Given the description of an element on the screen output the (x, y) to click on. 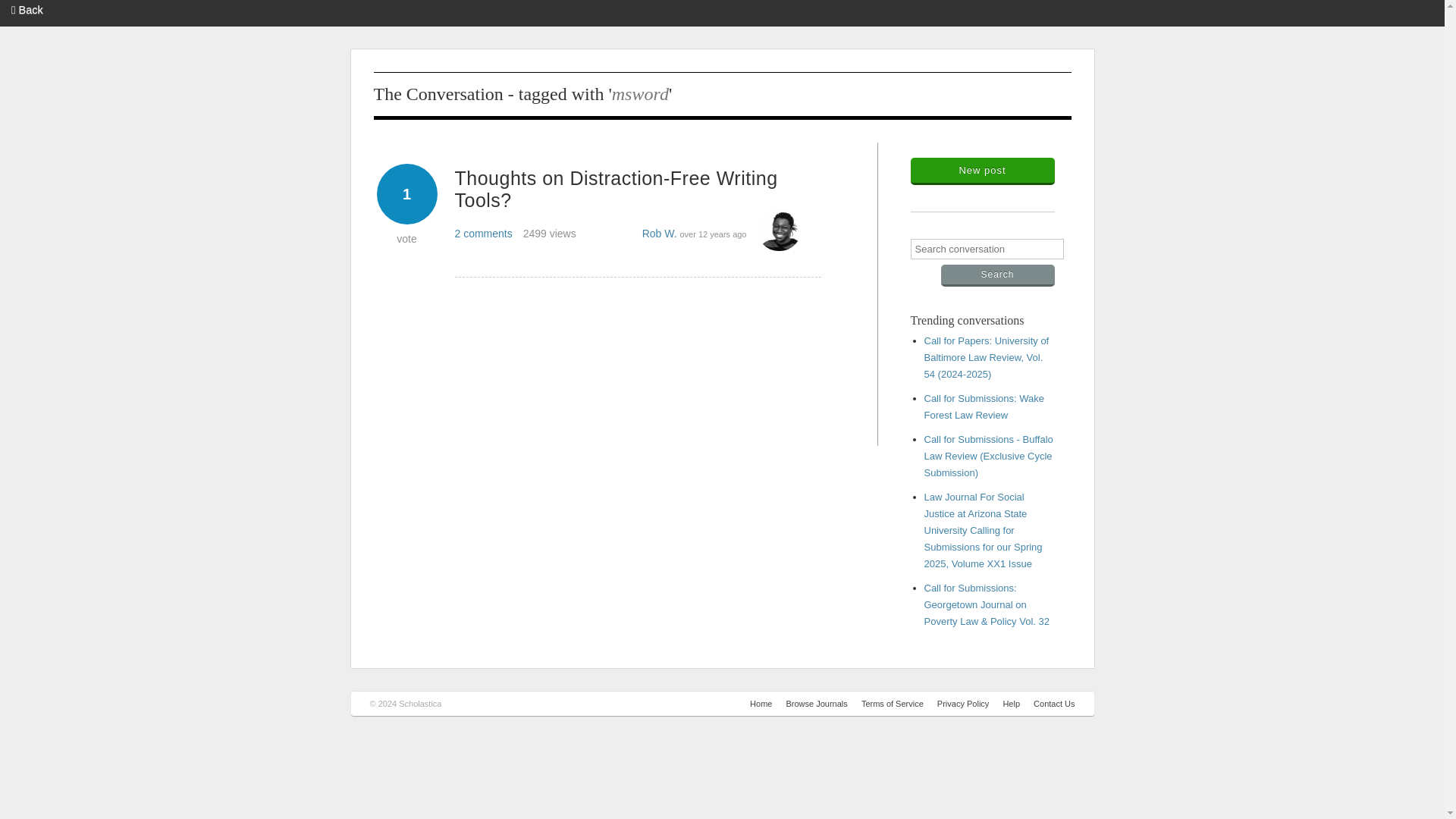
Contact Us (1053, 703)
Browse Journals (816, 703)
Search (997, 275)
Search (997, 275)
Privacy Policy (962, 703)
2 comments (483, 240)
Terms of Service (892, 703)
Thoughts on Distraction-Free Writing Tools? (615, 196)
Call for Submissions: Wake Forest Law Review (983, 406)
Help (1011, 703)
